Given the description of an element on the screen output the (x, y) to click on. 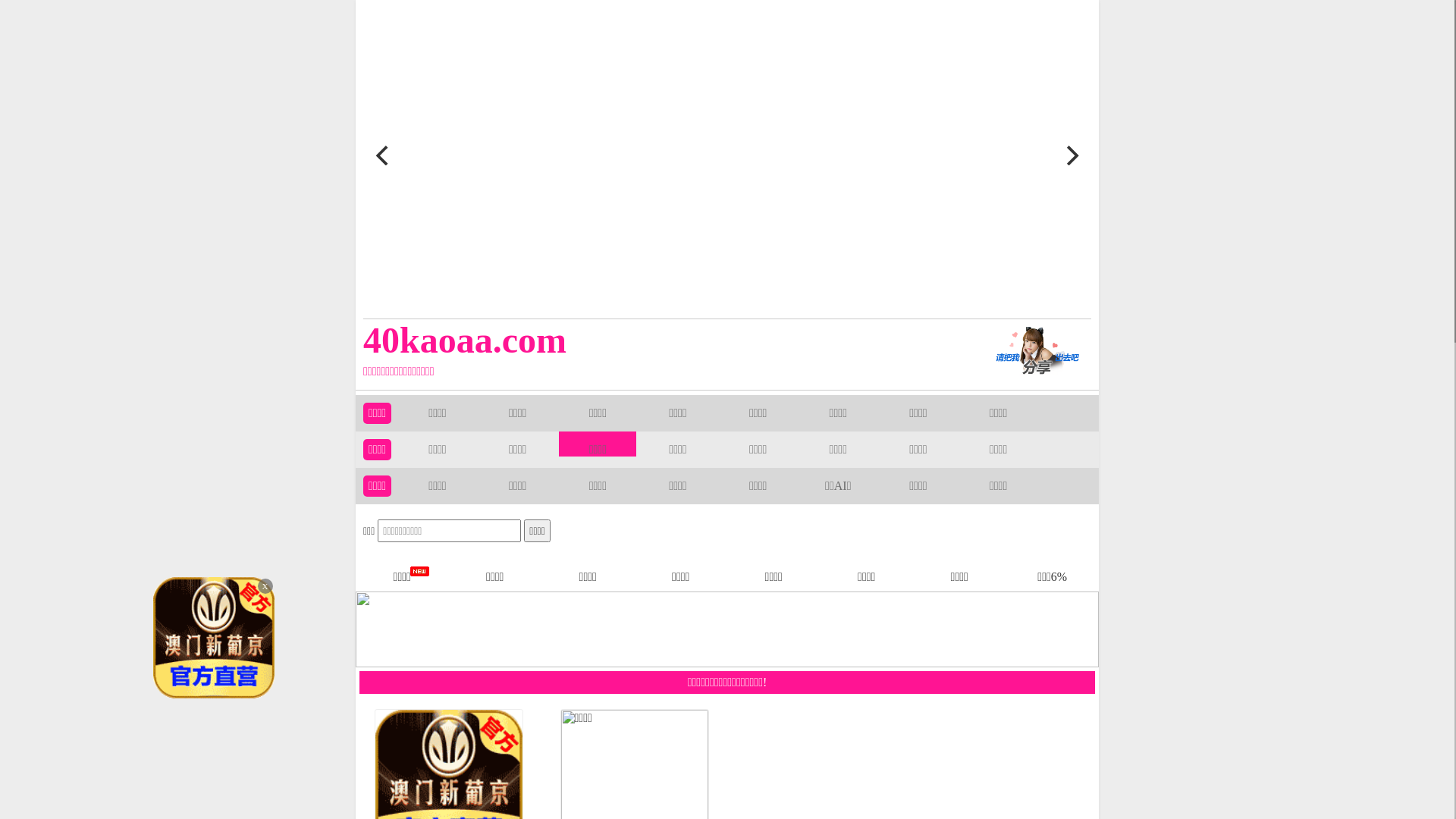
40kaoaa.com Element type: text (654, 339)
